Given the description of an element on the screen output the (x, y) to click on. 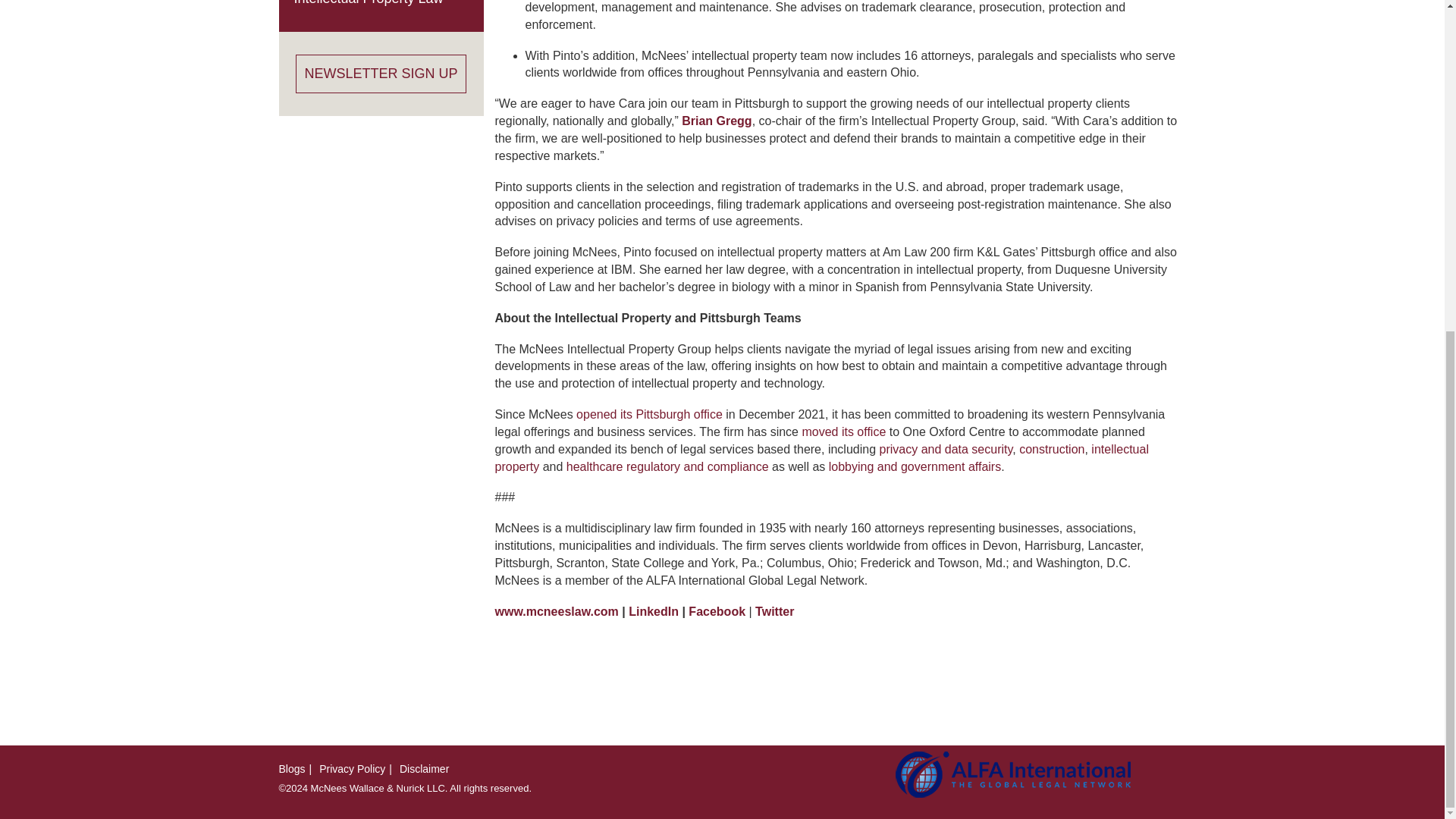
opened its Pittsburgh office (649, 413)
healthcare regulatory and compliance (667, 466)
LinkedIn (653, 611)
www.mcneeslaw.com (556, 611)
NEWSLETTER SIGN UP (380, 74)
Intellectual Property Law (369, 2)
privacy and data security (946, 449)
lobbying and government affairs (914, 466)
Twitter (774, 611)
Facebook (716, 611)
